Given the description of an element on the screen output the (x, y) to click on. 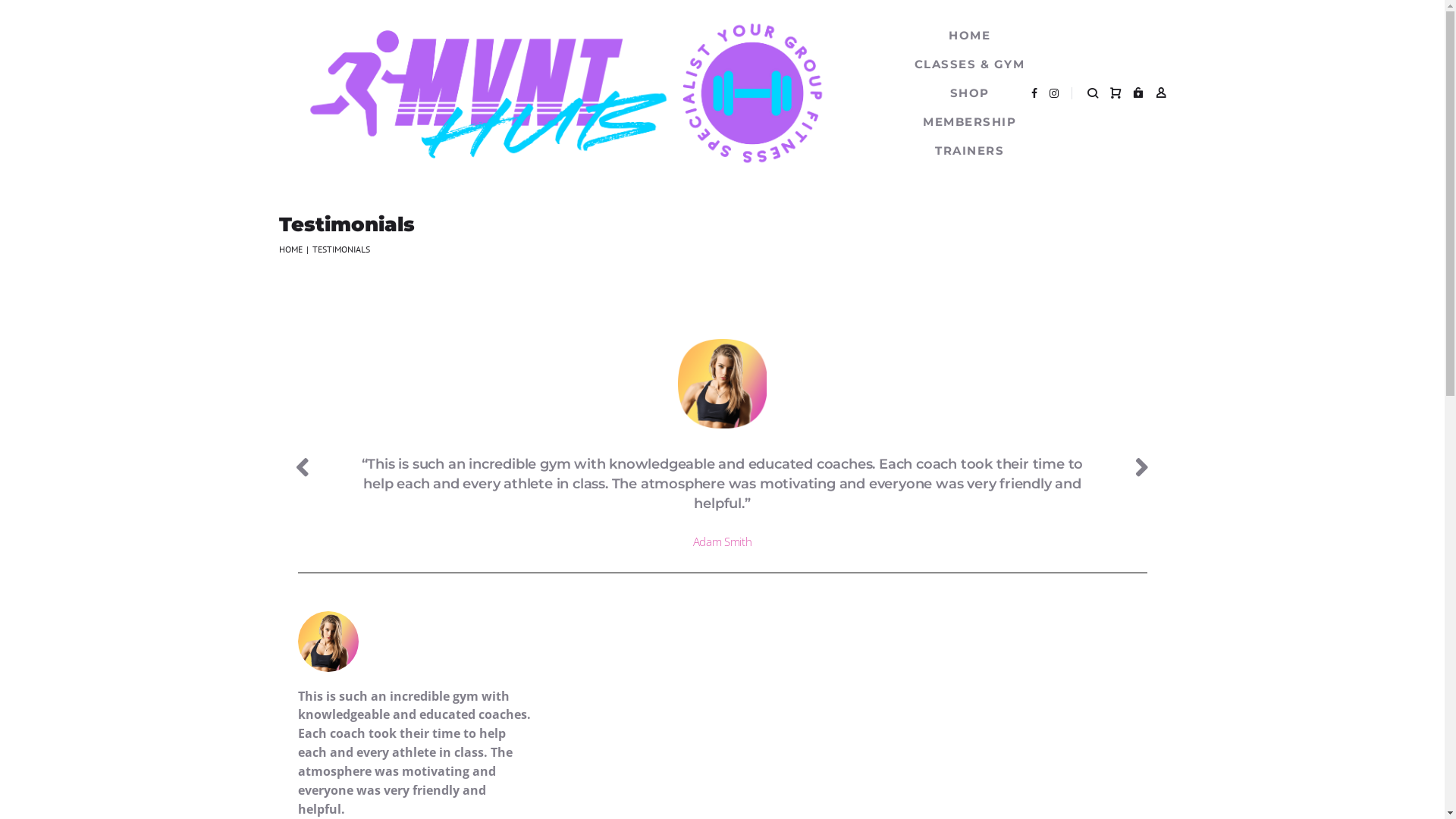
MEMBERSHIP Element type: text (969, 121)
SHOP Element type: text (968, 92)
CLASSES & GYM Element type: text (969, 64)
TRAINERS Element type: text (969, 150)
View your shopping cart Element type: hover (1115, 92)
HOME Element type: text (290, 248)
HOME Element type: text (969, 35)
